Given the description of an element on the screen output the (x, y) to click on. 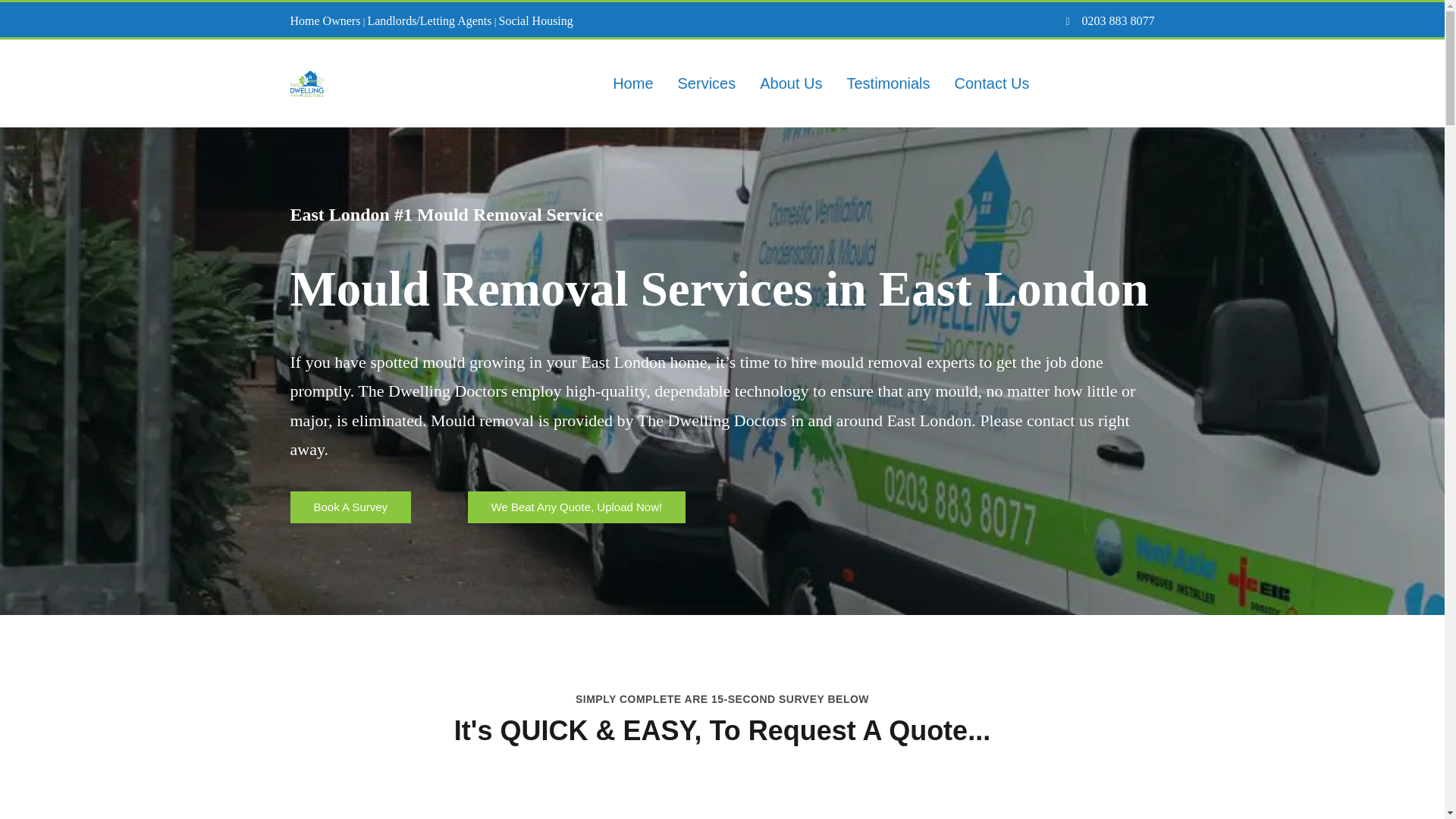
Survey 2 (721, 806)
Home Owners (324, 20)
Services (706, 83)
We Beat Any Quote, Upload Now! (576, 507)
Testimonials (888, 83)
Book A Survey (349, 507)
Social Housing (536, 20)
Call Us Now (1106, 84)
0203 883 8077 (1116, 20)
Contact Us (992, 83)
About Us (791, 83)
